Given the description of an element on the screen output the (x, y) to click on. 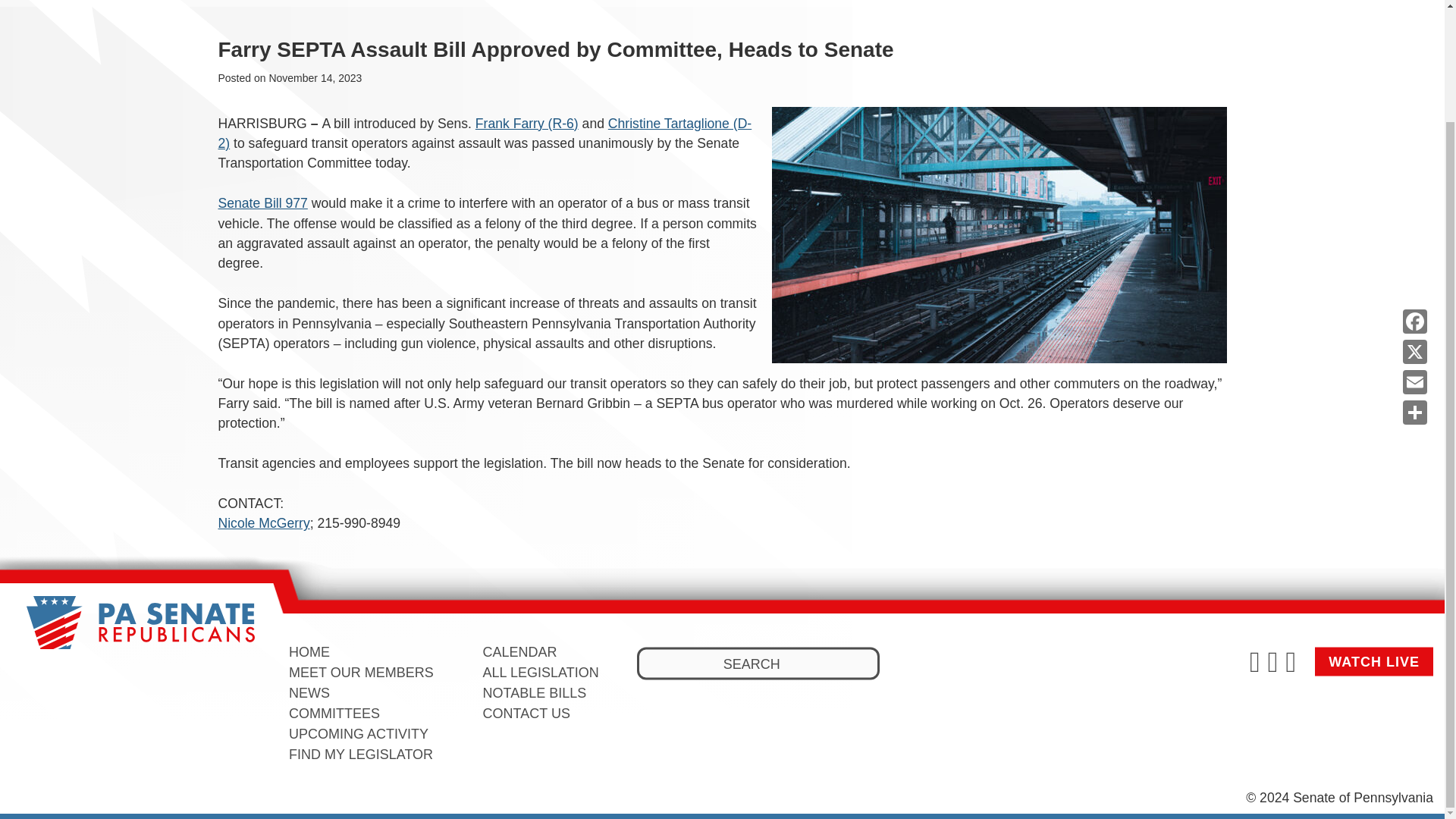
X (1414, 218)
Email (1414, 249)
Search for: (758, 663)
Facebook (1414, 188)
